Given the description of an element on the screen output the (x, y) to click on. 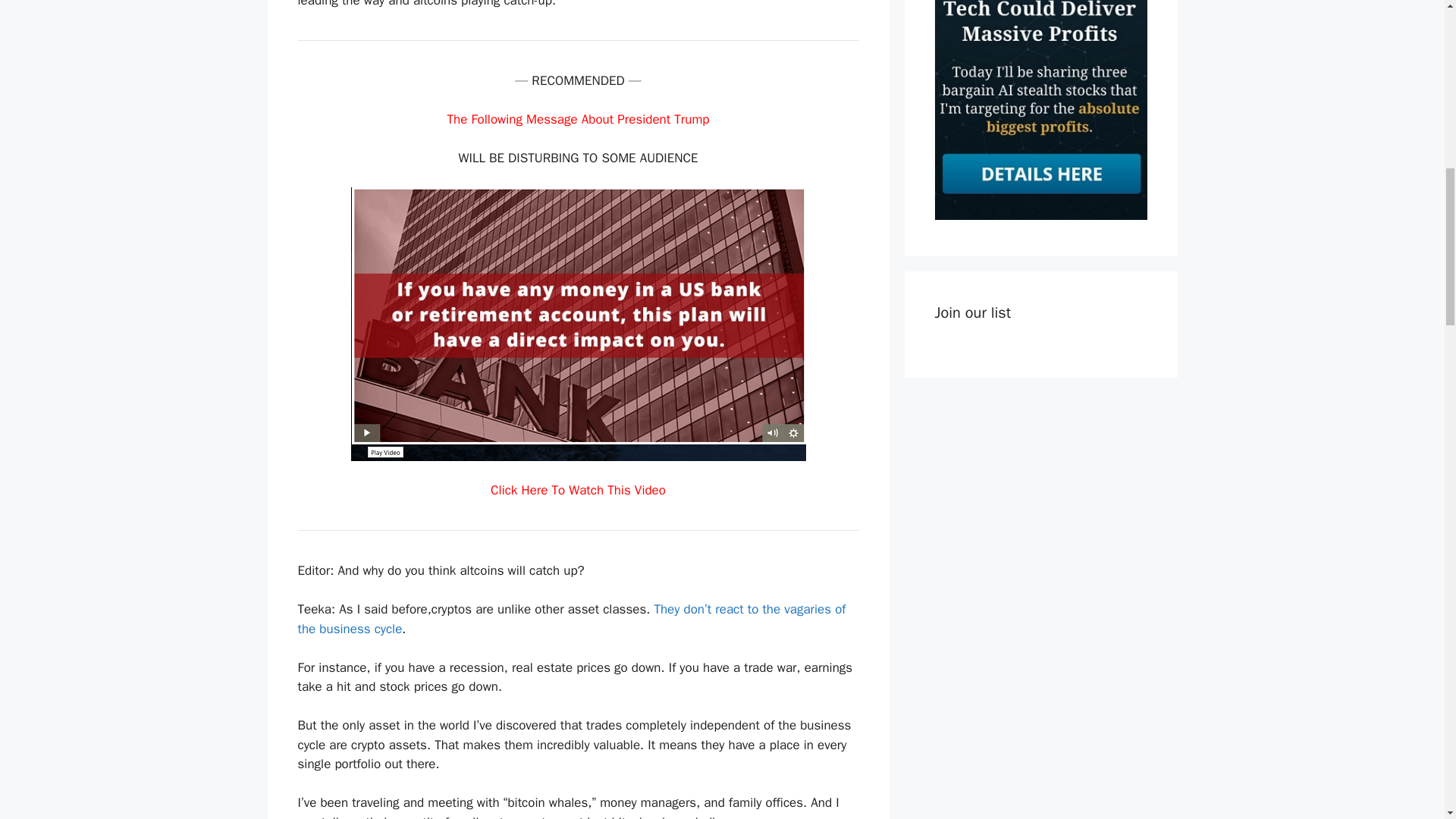
Manward Money Report Review (1040, 215)
The Following Message About President Trump (578, 119)
Click Here To Watch This Video (577, 489)
